Given the description of an element on the screen output the (x, y) to click on. 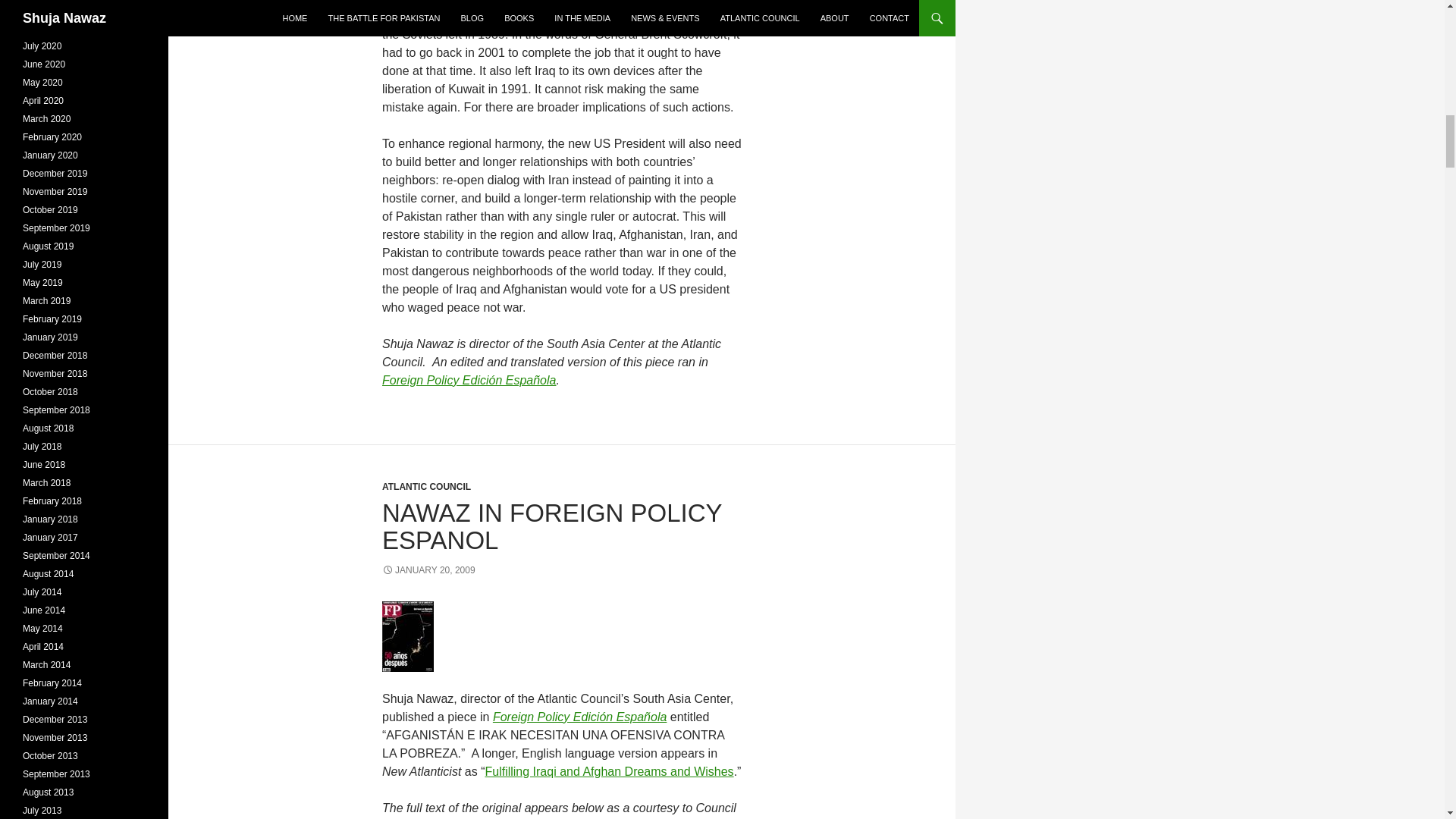
ATLANTIC COUNCIL (425, 486)
Fulfilling Iraqi and Afghan Dreams and Wishes (608, 771)
NAWAZ IN FOREIGN POLICY ESPANOL (551, 526)
JANUARY 20, 2009 (428, 570)
